Given the description of an element on the screen output the (x, y) to click on. 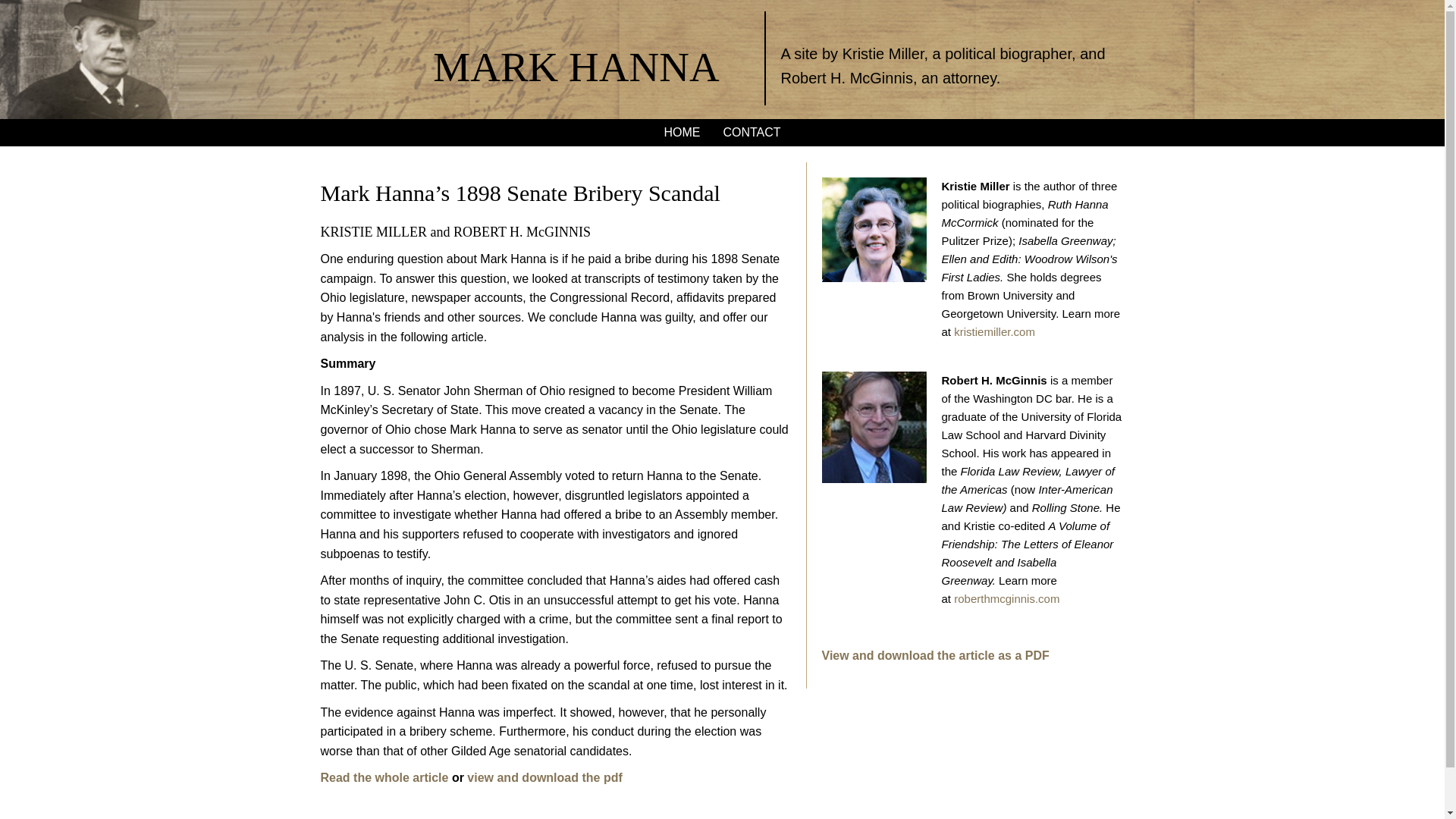
roberthmcginnis.com (1006, 598)
Read the whole article (384, 777)
kristiemiller-headshot (874, 229)
kristiemiller.com (994, 331)
View and download the article as a PDF (935, 655)
McGinnis-site-photo (874, 427)
HOME (681, 132)
CONTACT (751, 132)
Mark Hanna (575, 67)
MARK HANNA (575, 67)
view and download the pdf (544, 777)
